Given the description of an element on the screen output the (x, y) to click on. 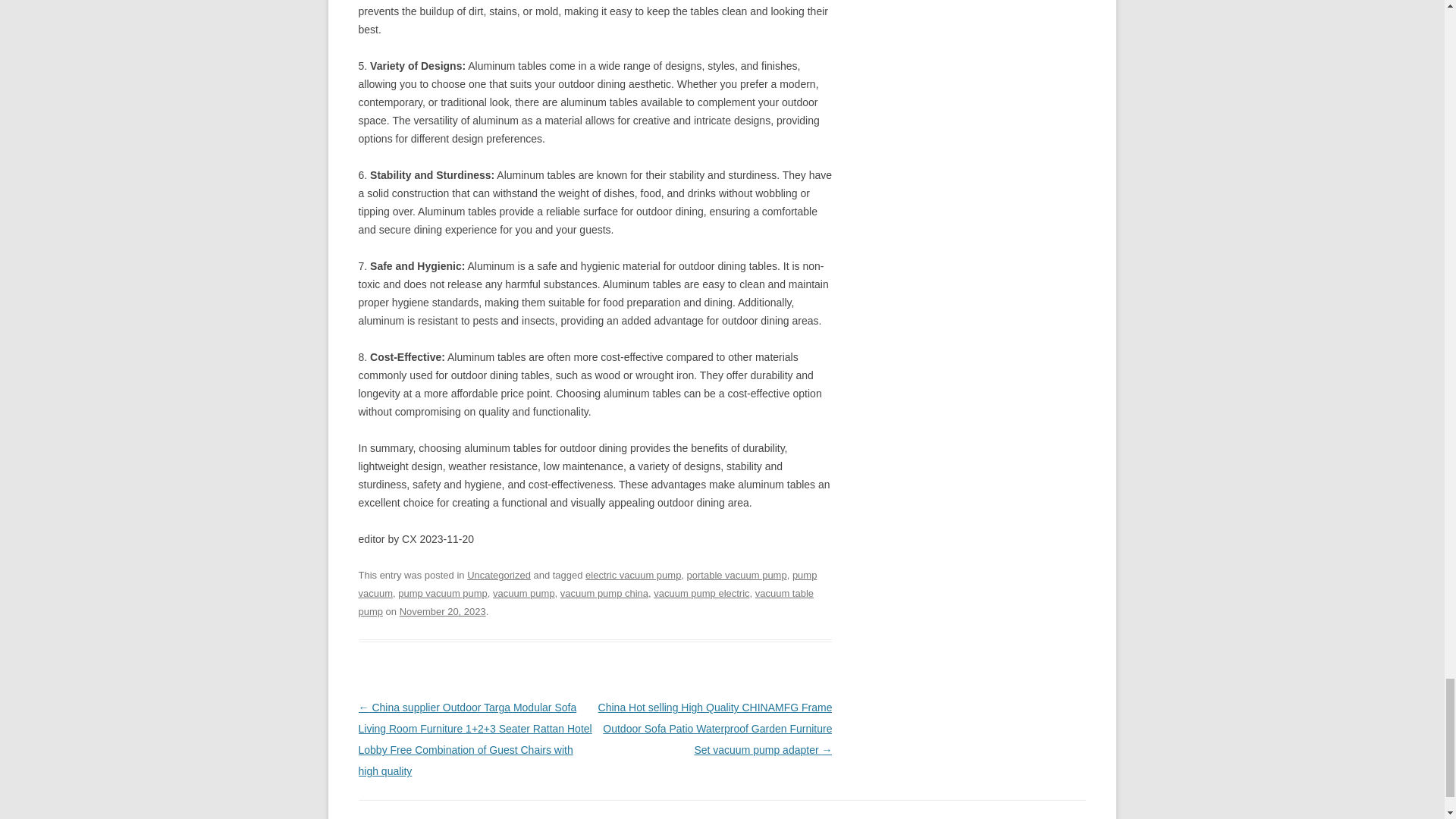
Uncategorized (499, 574)
vacuum pump (523, 593)
12:43 am (442, 611)
vacuum pump electric (701, 593)
vacuum table pump (585, 602)
pump vacuum pump (442, 593)
pump vacuum (587, 583)
portable vacuum pump (737, 574)
November 20, 2023 (442, 611)
electric vacuum pump (633, 574)
vacuum pump china (603, 593)
